Given the description of an element on the screen output the (x, y) to click on. 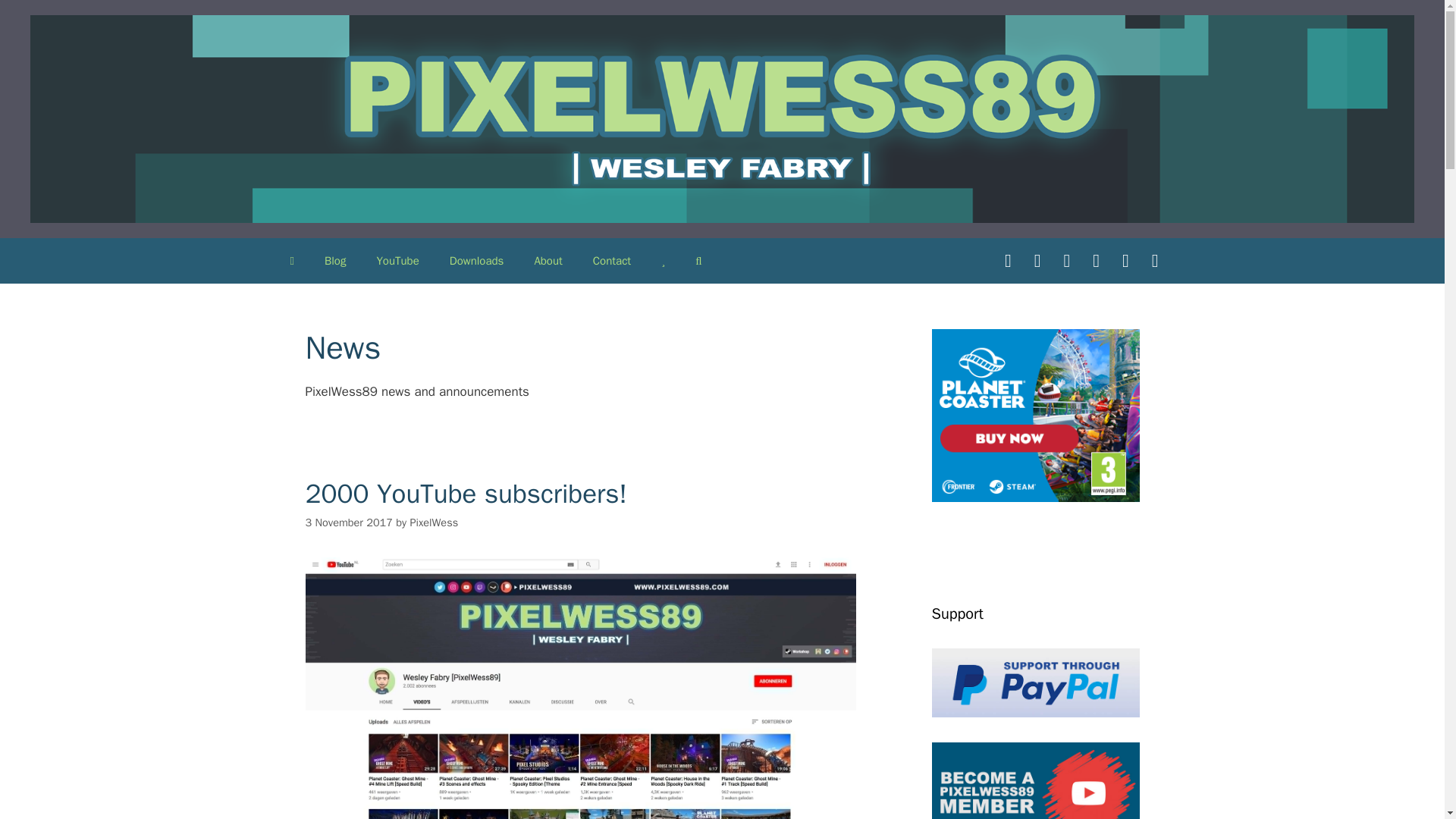
Blog (334, 260)
Contact me (612, 260)
The latest news, posts and more (334, 260)
Contact (612, 260)
PixelWess89 (721, 117)
About (547, 260)
All my YouTube videos can be found here (397, 260)
YouTube (397, 260)
Downloads (476, 260)
2000 YouTube subscribers! (465, 493)
All my downloads like billboard files and more (476, 260)
Learn more about PixelWess89 (547, 260)
PixelWess (433, 522)
